Given the description of an element on the screen output the (x, y) to click on. 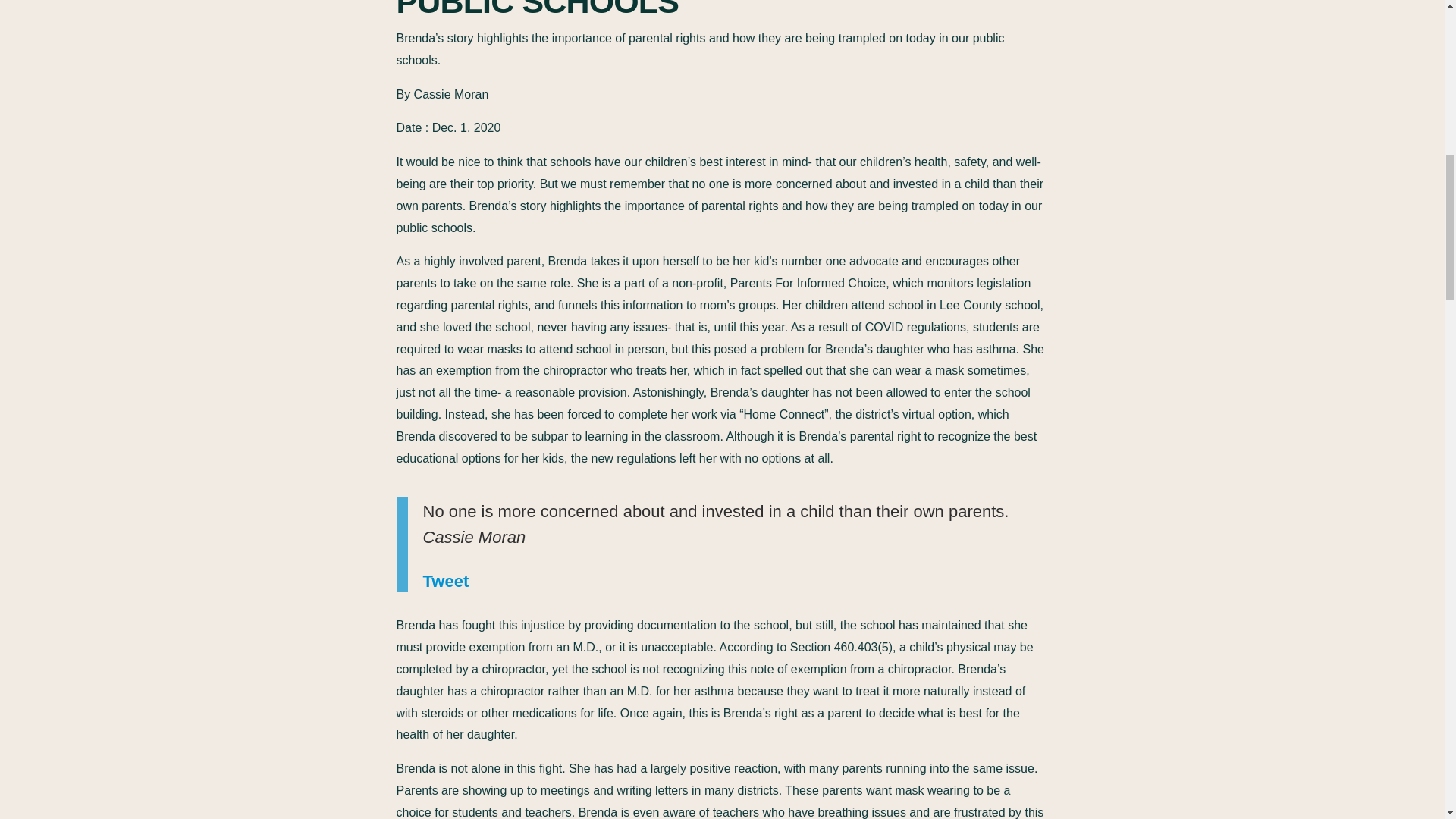
Tweet (445, 591)
